Given the description of an element on the screen output the (x, y) to click on. 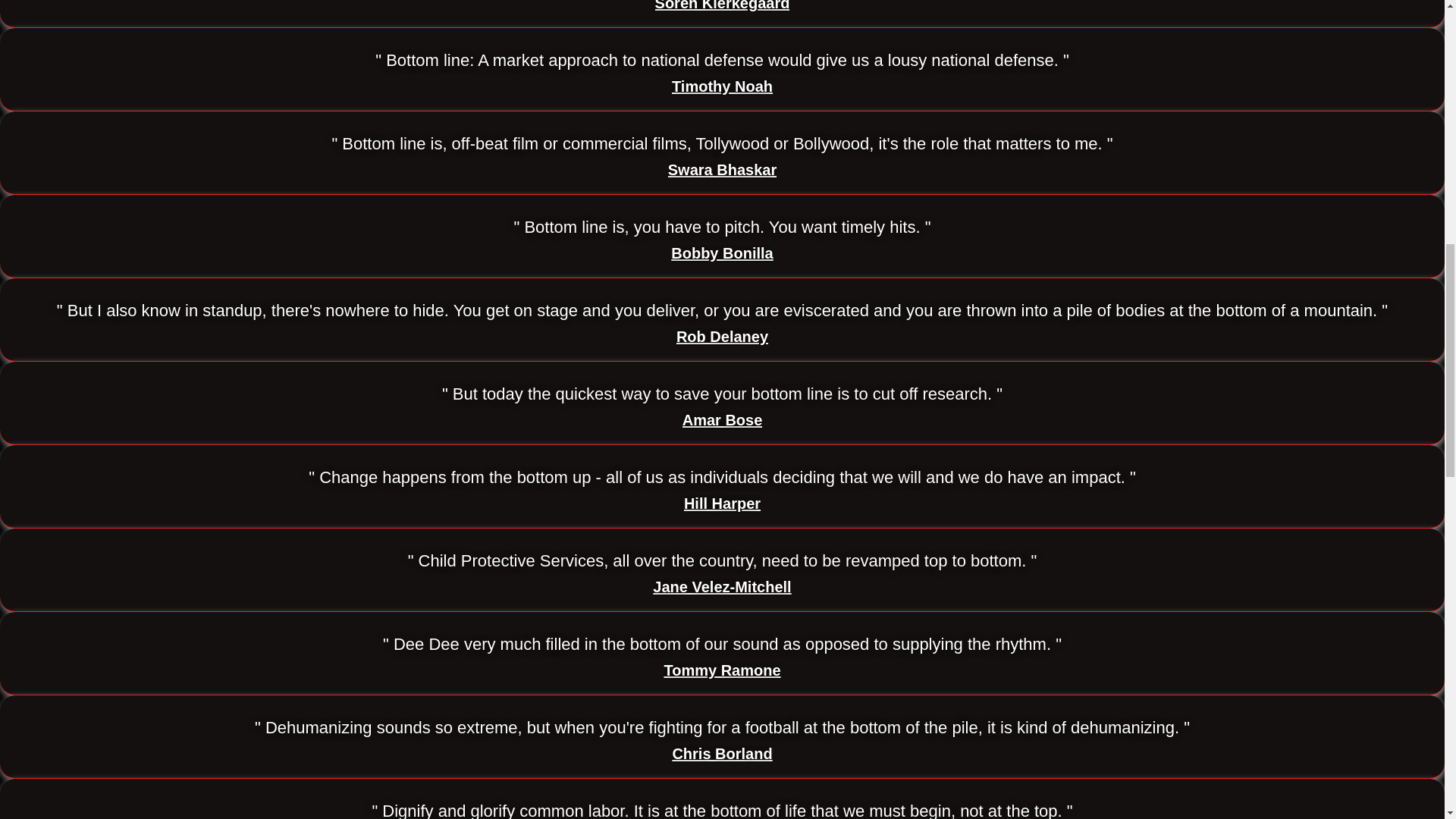
Soren Kierkegaard (722, 6)
Amar Bose (722, 420)
Bobby Bonilla (722, 253)
Chris Borland (721, 753)
Hill Harper (722, 503)
Swara Bhaskar (722, 170)
